Given the description of an element on the screen output the (x, y) to click on. 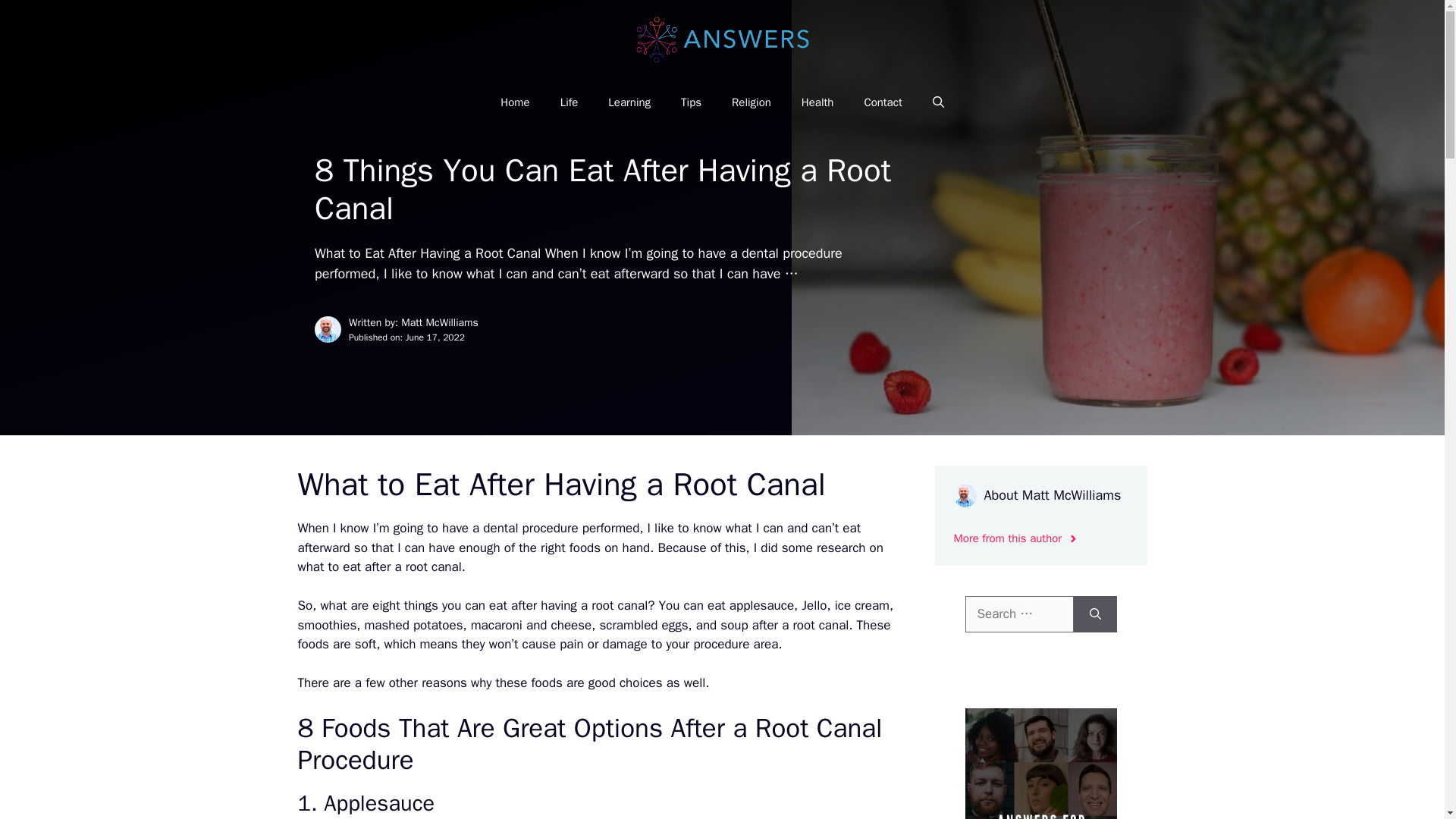
Search for: (1018, 614)
Life (569, 102)
Health (817, 102)
More from this author (1015, 538)
Home (514, 102)
Religion (751, 102)
Contact (882, 102)
foods (546, 682)
Learning (628, 102)
Tips (690, 102)
